Given the description of an element on the screen output the (x, y) to click on. 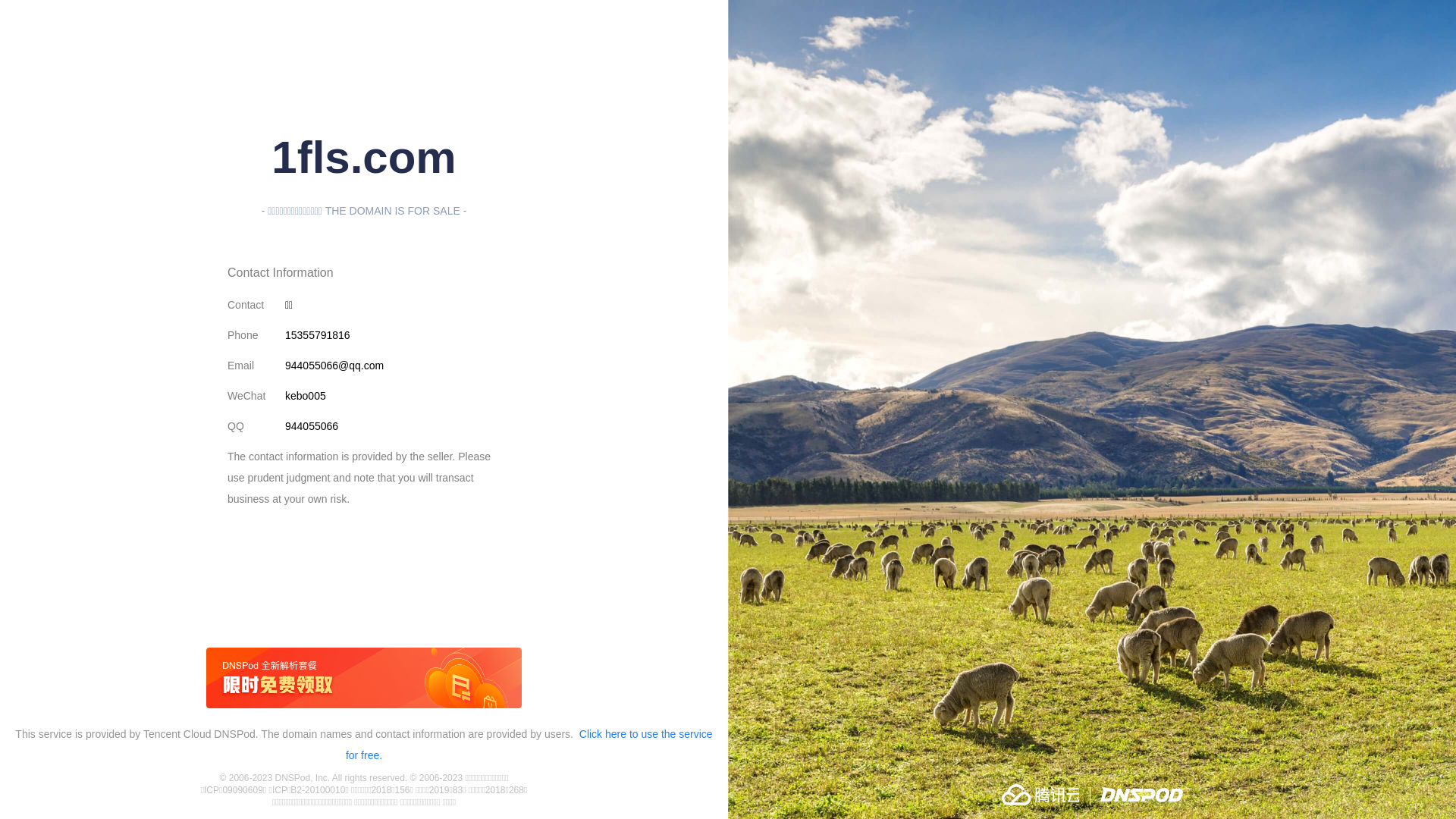
Click here to use the service for free. Element type: text (528, 744)
